Given the description of an element on the screen output the (x, y) to click on. 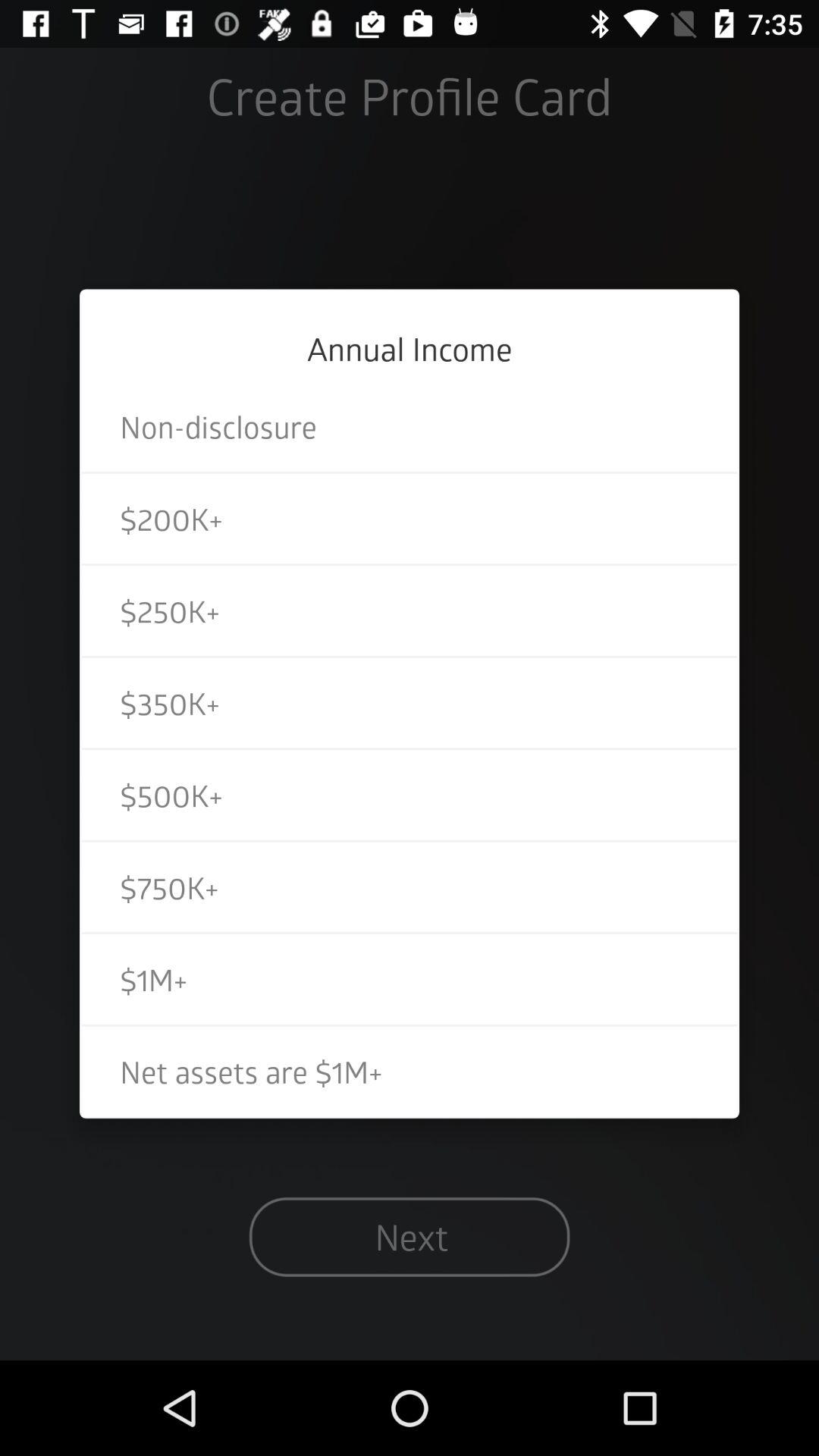
swipe to $500k+ (409, 795)
